Given the description of an element on the screen output the (x, y) to click on. 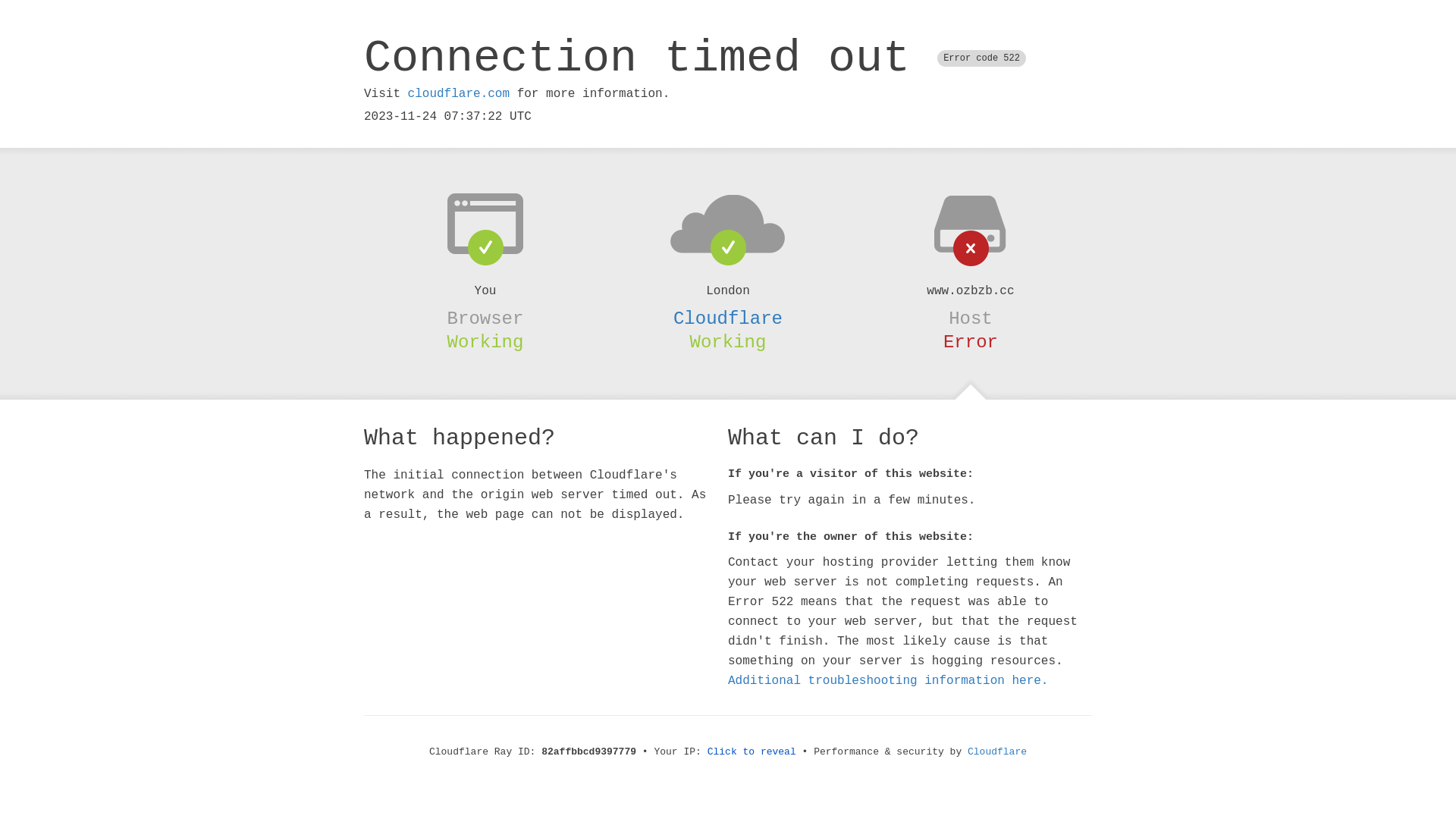
cloudflare.com Element type: text (458, 93)
Cloudflare Element type: text (727, 318)
Click to reveal Element type: text (751, 751)
Cloudflare Element type: text (996, 751)
Additional troubleshooting information here. Element type: text (888, 680)
